Given the description of an element on the screen output the (x, y) to click on. 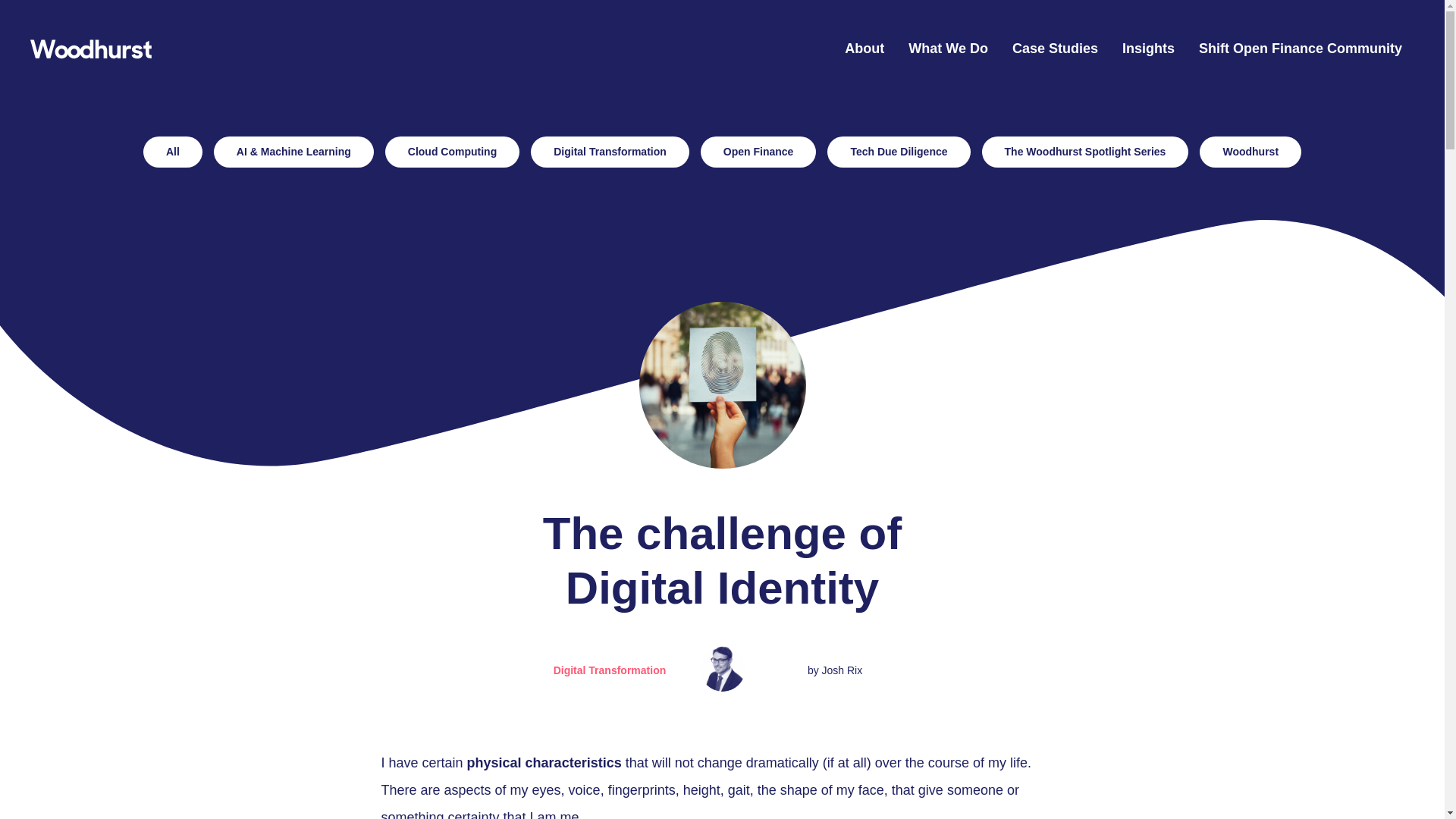
Cloud Computing (452, 151)
Insights (1147, 48)
Woodhurst (1250, 151)
Digital Transformation (609, 151)
Woodhurst (90, 52)
Shift Open Finance Community (1299, 48)
All (172, 151)
Open Finance (758, 151)
About (864, 48)
The Woodhurst Spotlight Series (1085, 151)
